Given the description of an element on the screen output the (x, y) to click on. 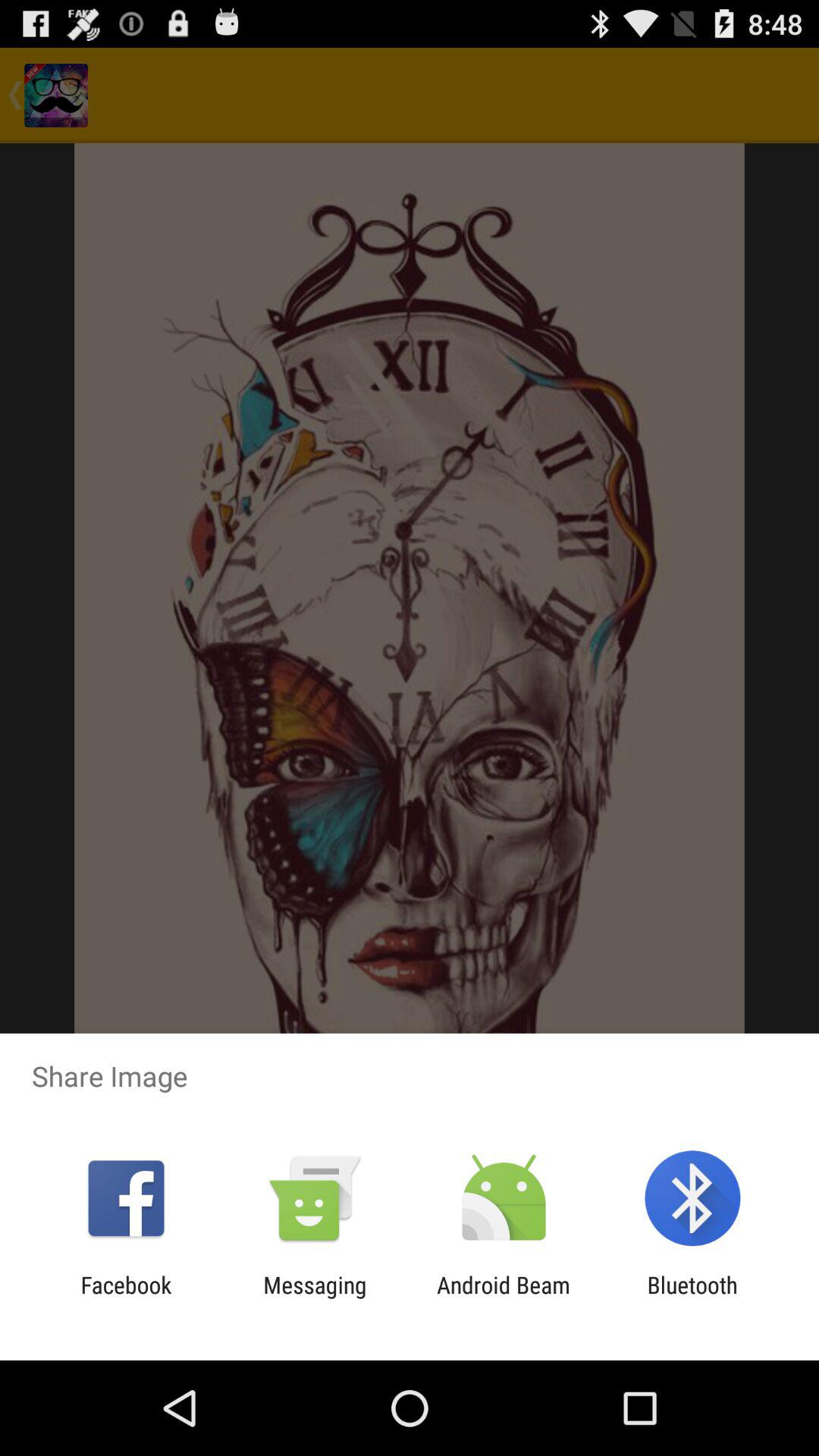
open bluetooth item (692, 1298)
